Given the description of an element on the screen output the (x, y) to click on. 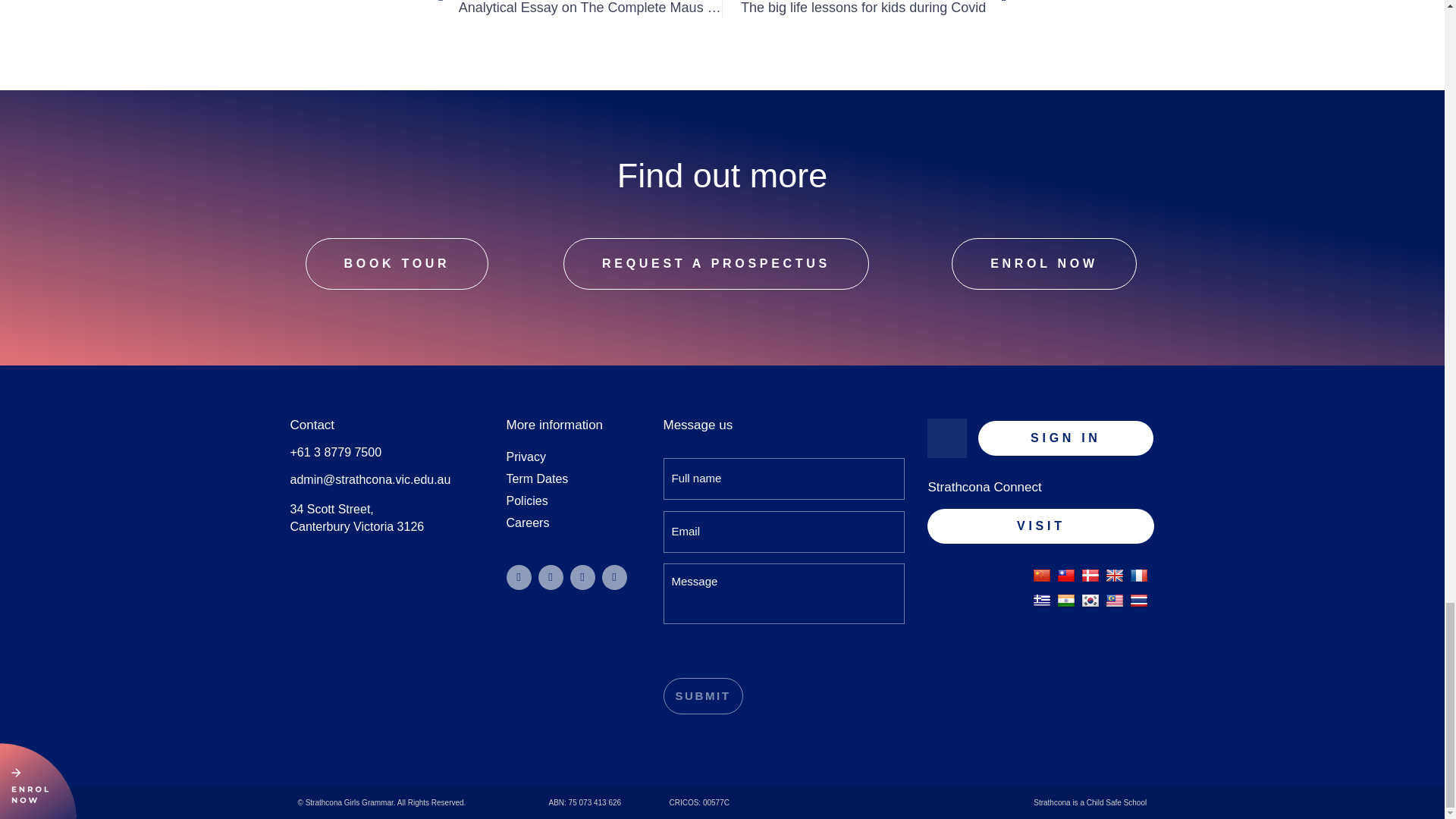
Korean (1090, 601)
Thai (1138, 601)
Hindi (1066, 601)
Greek (1041, 601)
French (1138, 575)
Malay (1114, 601)
Danish (1090, 575)
English (1114, 575)
Submit (702, 696)
